Given the description of an element on the screen output the (x, y) to click on. 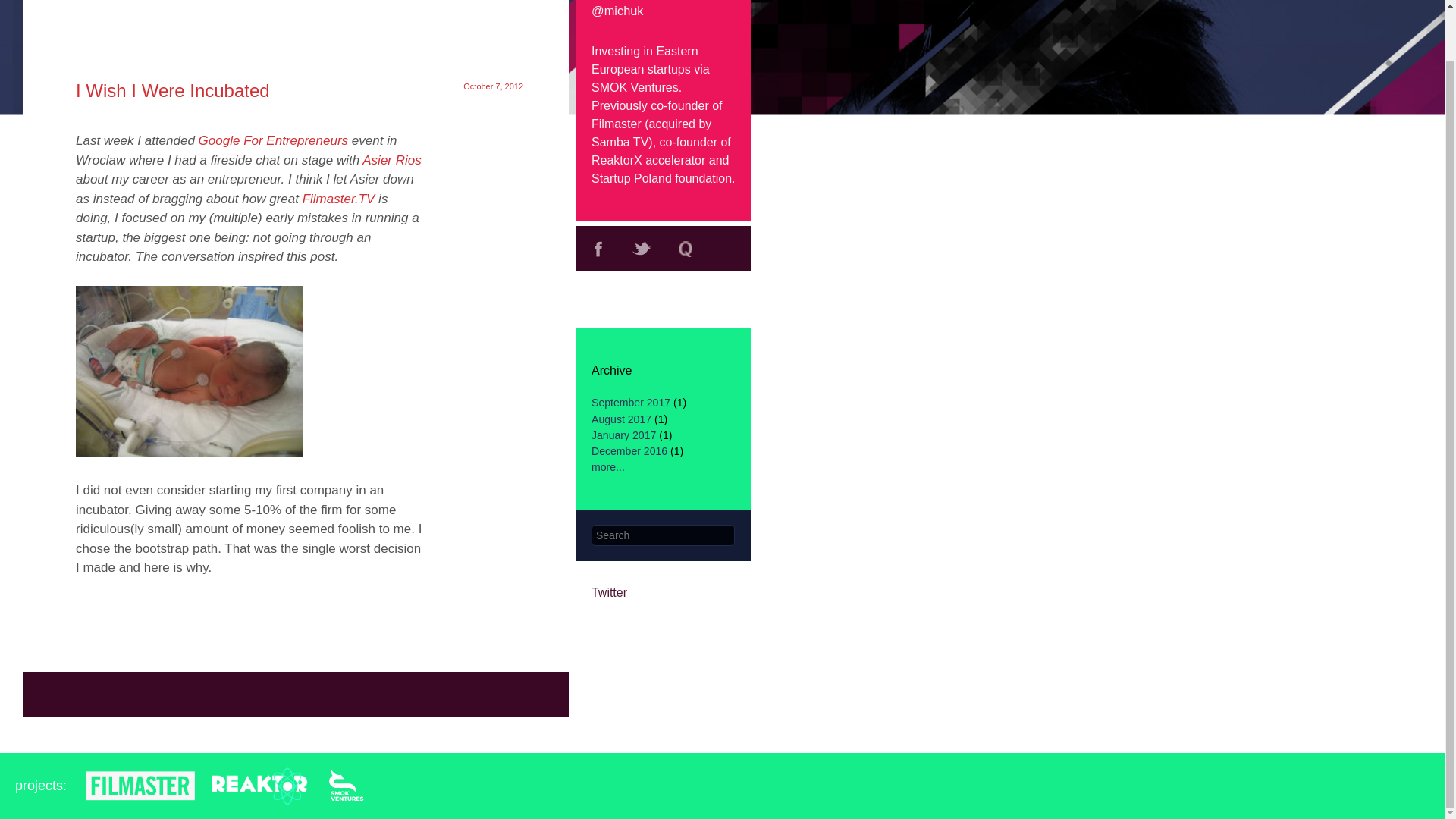
Twitter (641, 248)
September 2017 (630, 402)
Startup Poland (631, 178)
August 2017 (620, 419)
ReaktorX (616, 160)
January 2017 (623, 435)
December 2016 (628, 451)
Filmaster (616, 123)
Facebook (598, 248)
SMOK Ventures (634, 87)
